Given the description of an element on the screen output the (x, y) to click on. 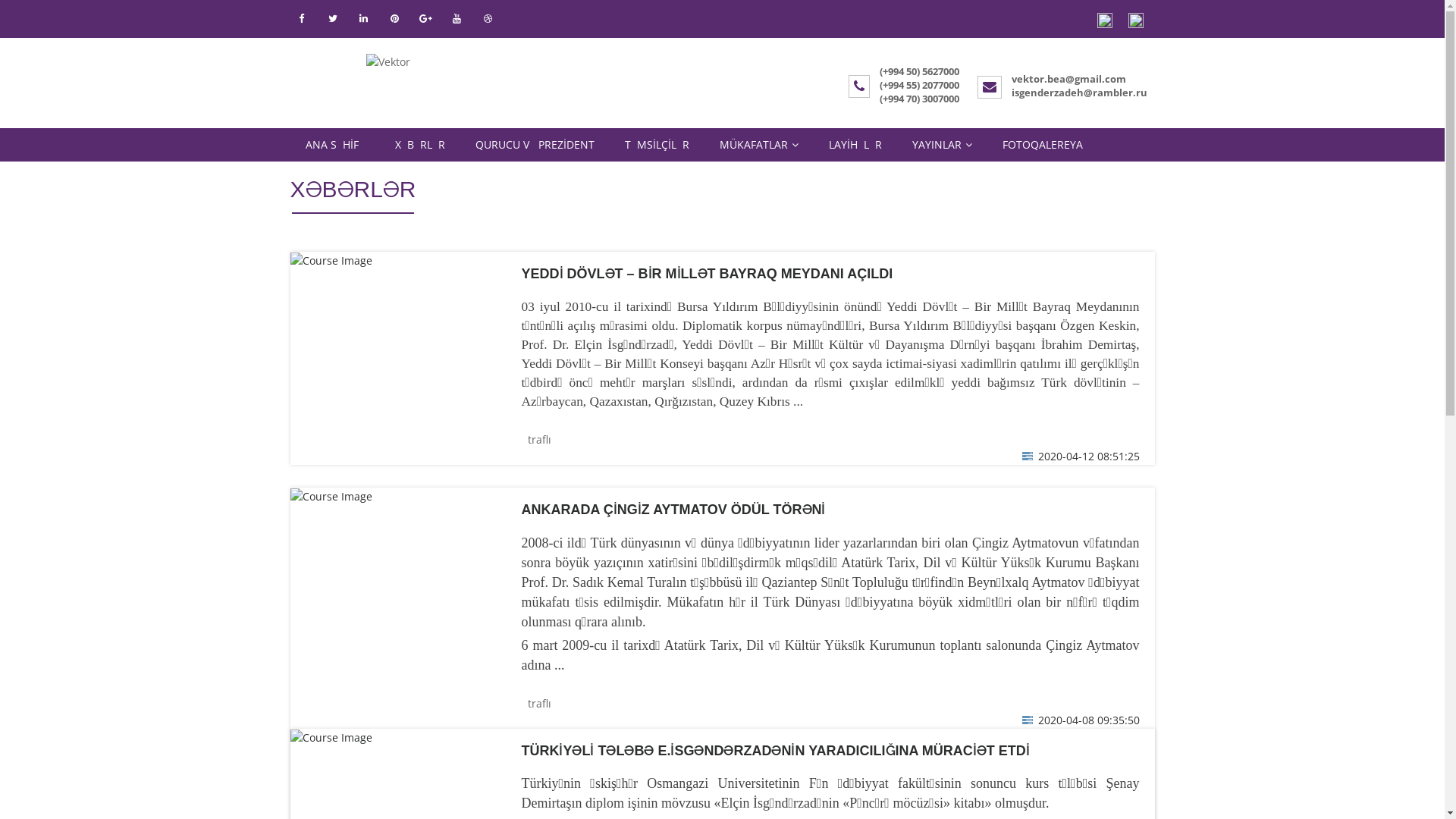
isgenderzadeh@rambler.ru Element type: text (1079, 92)
vektor.bea@gmail.com Element type: text (1068, 78)
YAYINLAR Element type: text (941, 144)
FOTOQALEREYA Element type: text (1042, 144)
